Given the description of an element on the screen output the (x, y) to click on. 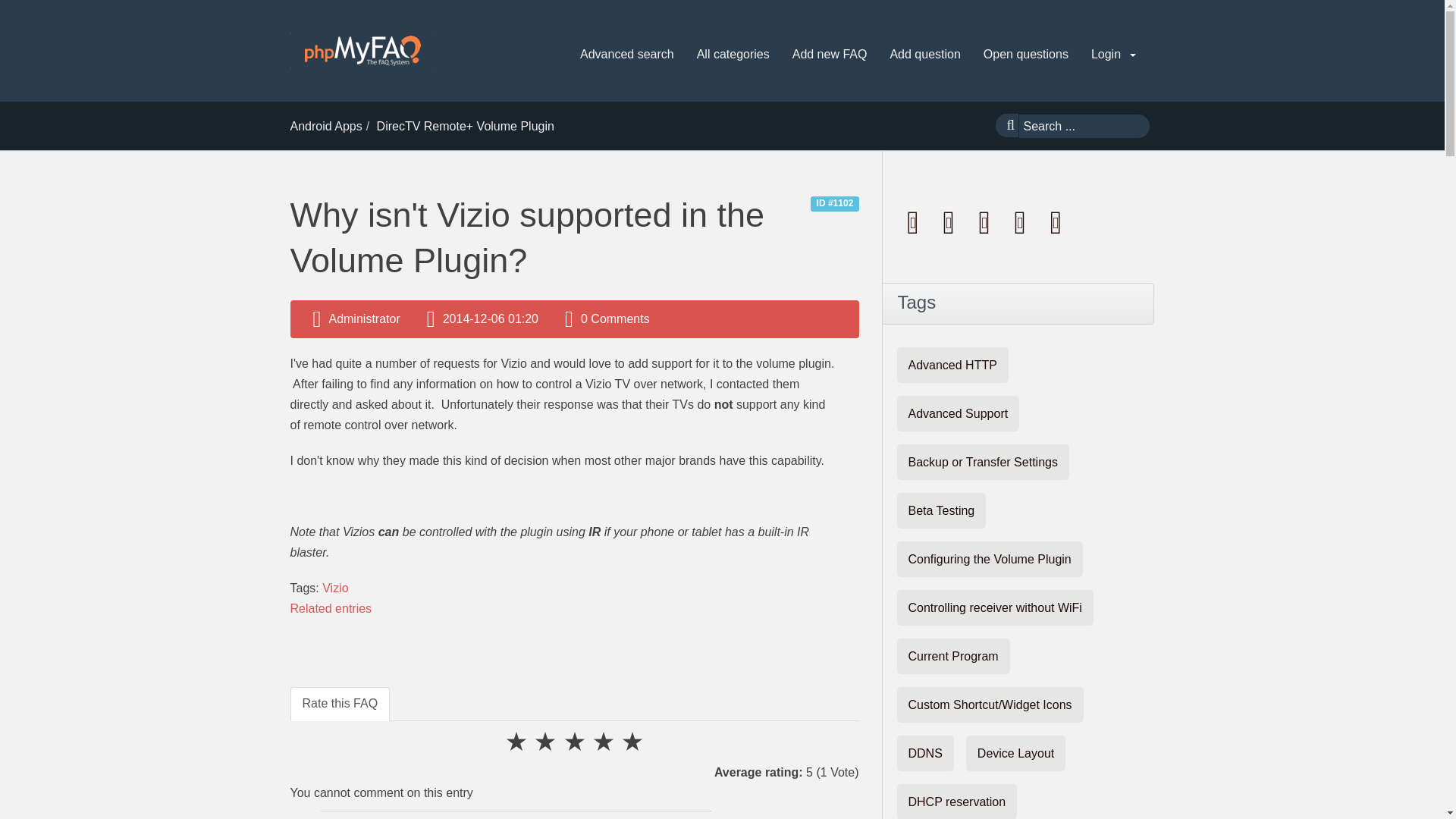
DDNS (924, 753)
Send FAQ to a friend (986, 221)
Advanced search (626, 53)
All categories (732, 53)
Android Apps (325, 125)
Configuring the Volume Plugin (988, 559)
Add question (925, 53)
Add new FAQ (829, 53)
Print this record (950, 221)
Related entries (330, 608)
Open questions (1025, 53)
Advanced Support (957, 413)
Rate this FAQ (339, 704)
Current Program (952, 656)
Login (1112, 53)
